Given the description of an element on the screen output the (x, y) to click on. 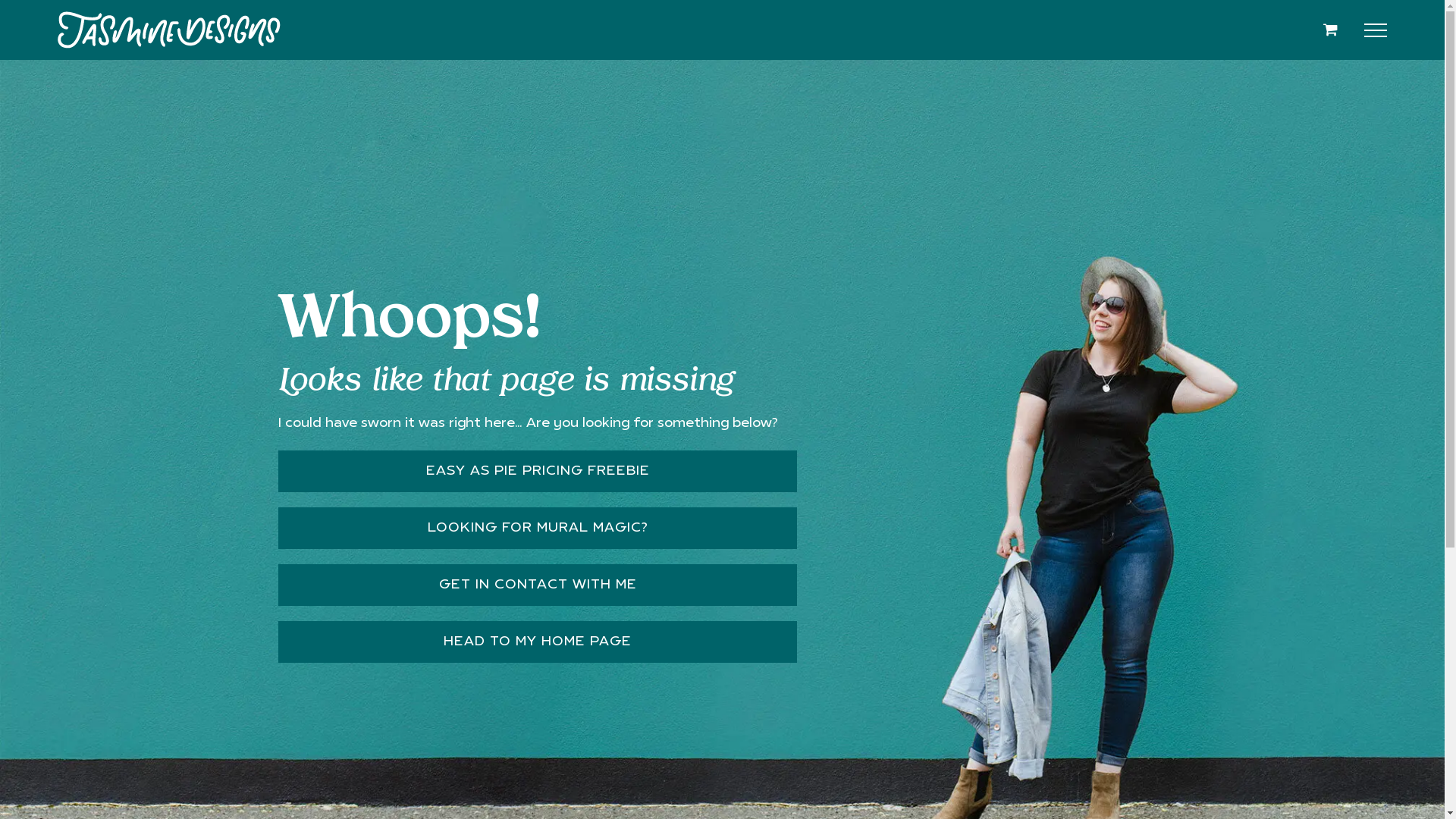
EASY AS PIE PRICING FREEBIE Element type: text (537, 471)
HEAD TO MY HOME PAGE Element type: text (537, 641)
GET IN CONTACT WITH ME Element type: text (537, 584)
LOOKING FOR MURAL MAGIC? Element type: text (537, 528)
